Given the description of an element on the screen output the (x, y) to click on. 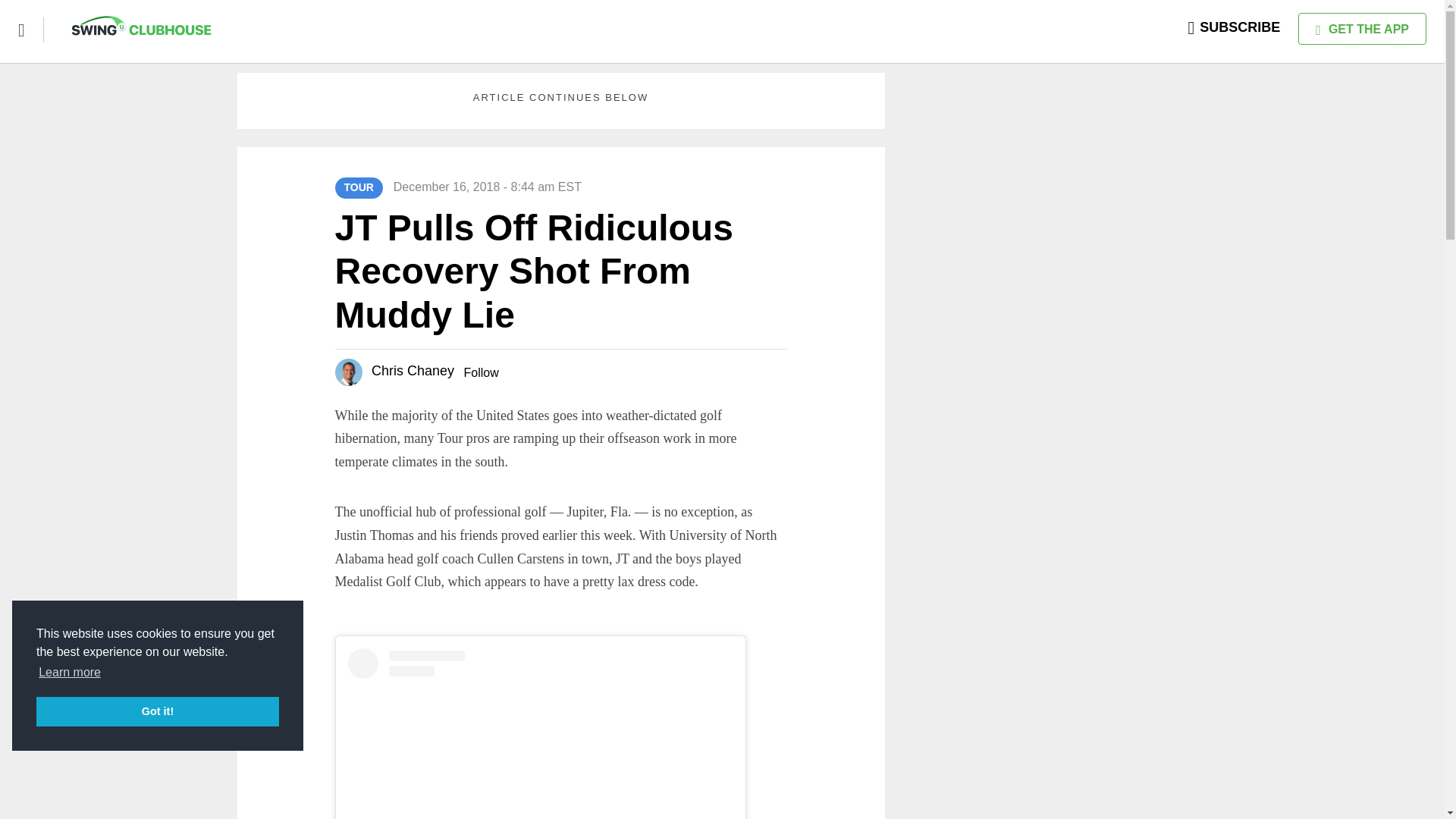
SUBSCRIBE (1234, 27)
Learn more (69, 671)
GET THE APP (1362, 29)
Chris Chaney (412, 370)
Follow (480, 372)
Got it! (157, 711)
